Given the description of an element on the screen output the (x, y) to click on. 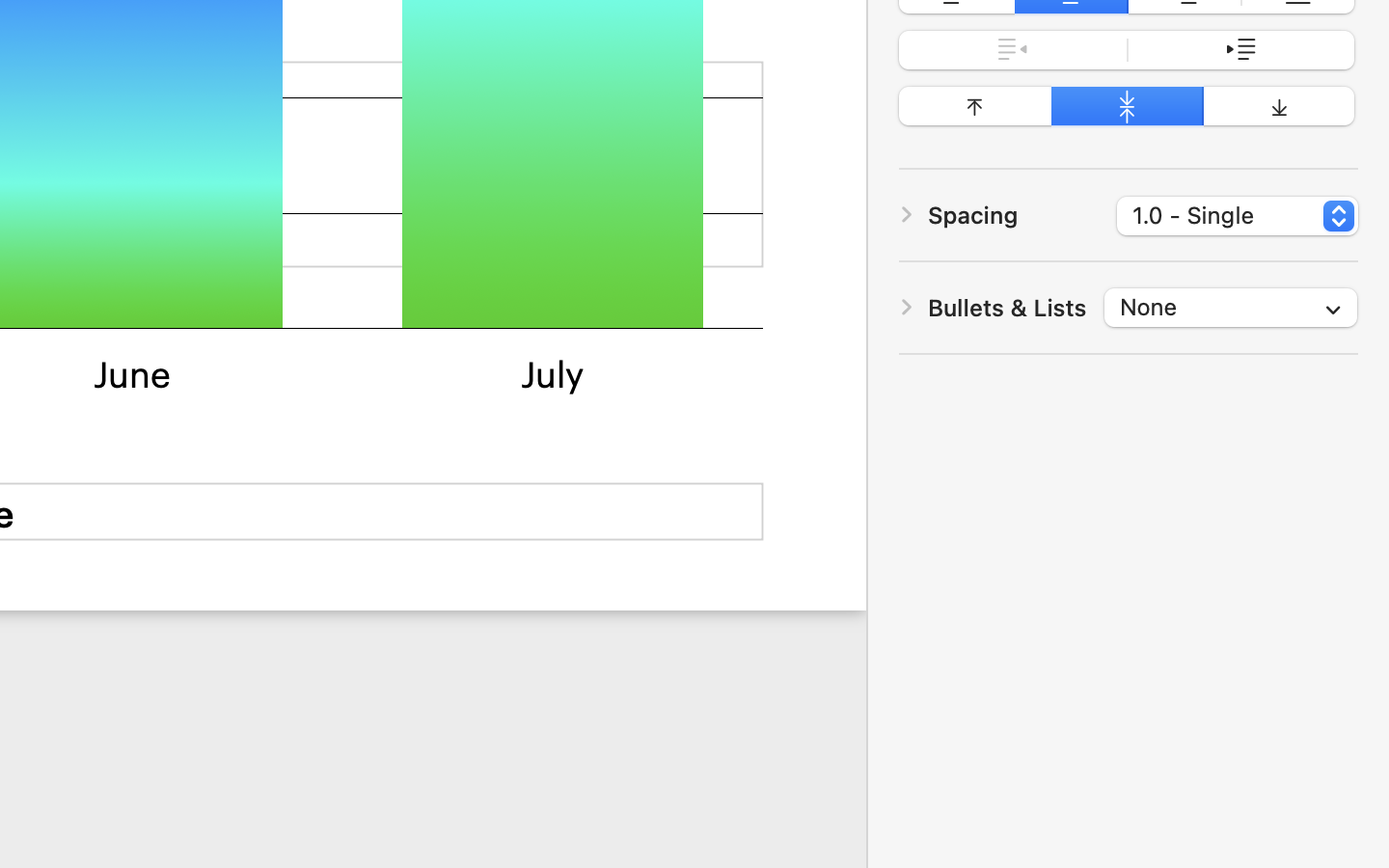
1.0 - Single Element type: AXPopUpButton (1238, 218)
